Given the description of an element on the screen output the (x, y) to click on. 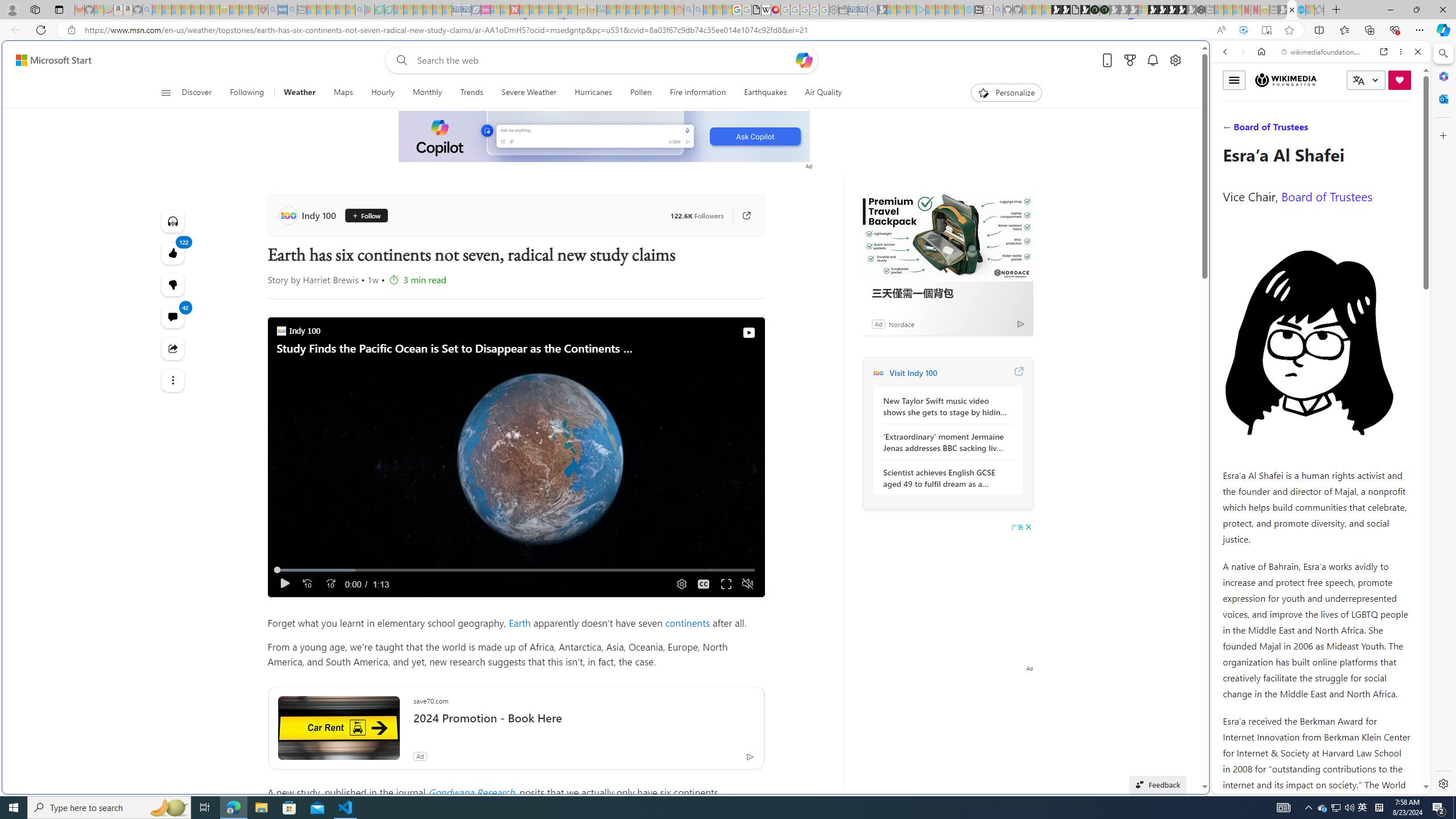
Trends (471, 92)
Jobs - lastminute.com Investor Portal - Sleeping (485, 9)
Severe Weather (528, 92)
